Given the description of an element on the screen output the (x, y) to click on. 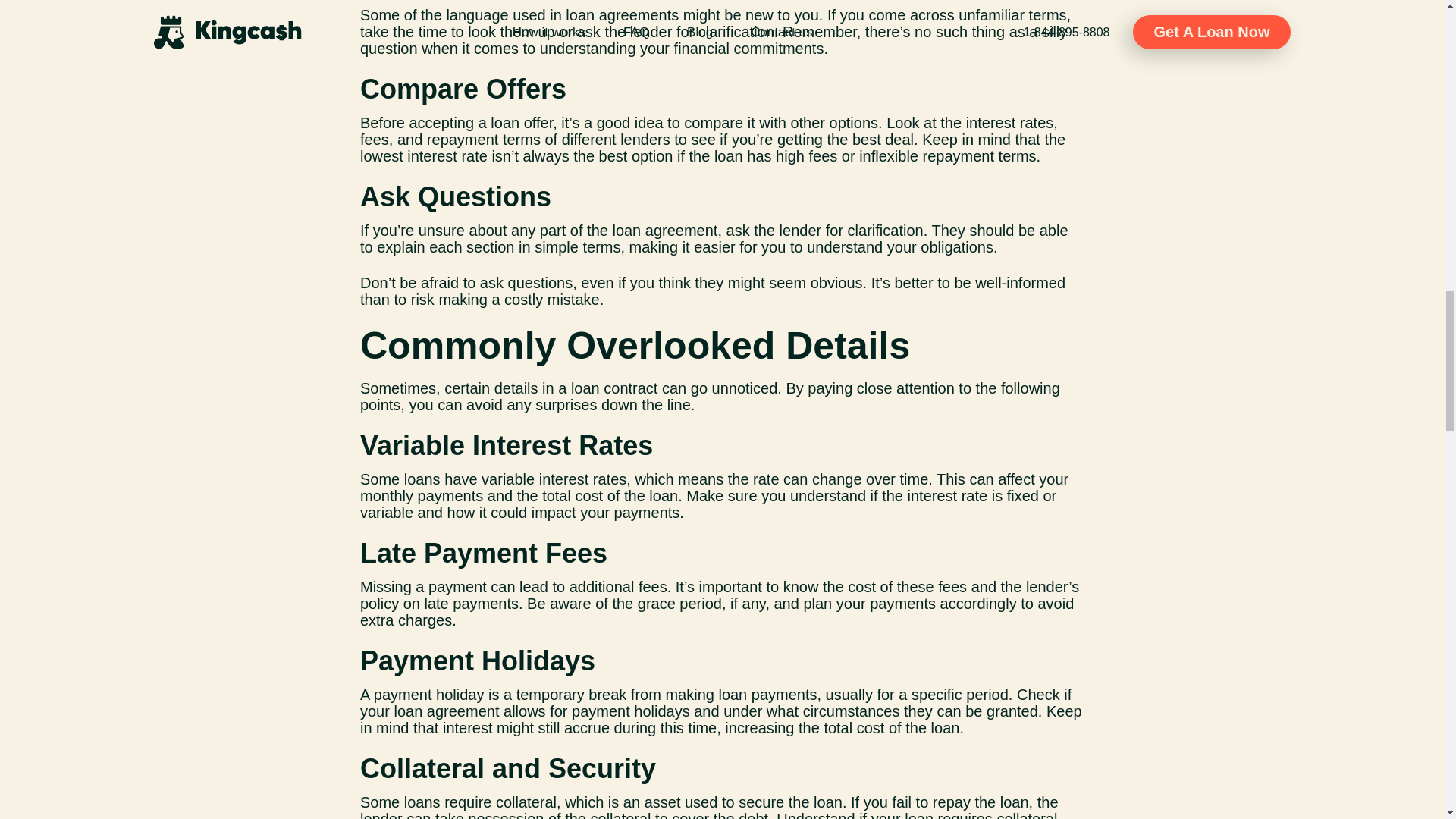
variable interest rates (553, 478)
